Given the description of an element on the screen output the (x, y) to click on. 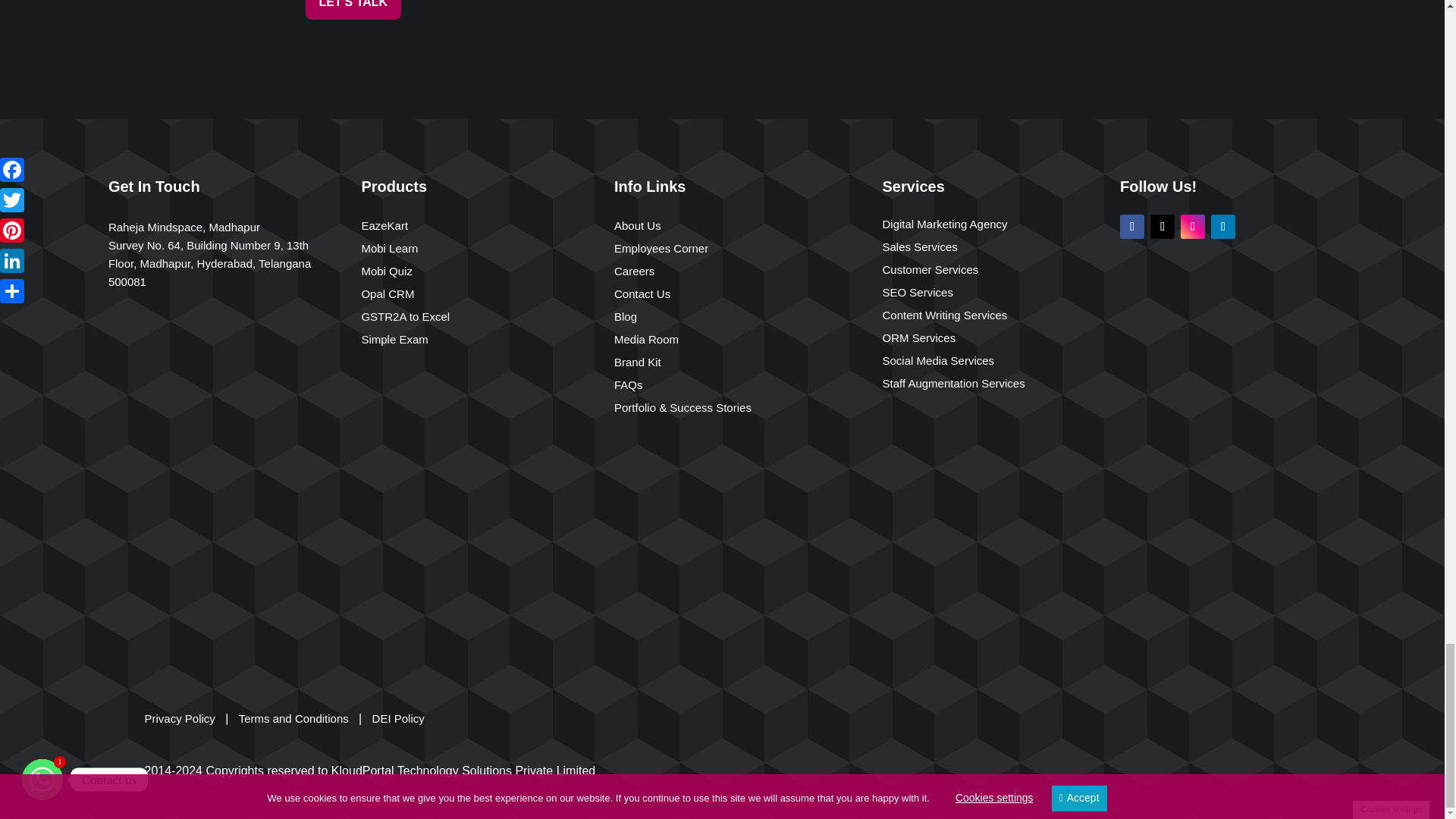
FAC-Signature (970, 32)
Woman-Owned-Business-Badge (1165, 491)
NASSCOM-Certified-Member (1200, 286)
Follow on Instagram (1192, 226)
CMMI Level 3 Trans BG (1200, 377)
Follow on Facebook (1131, 226)
Prashanthi Kolluru - Founder - KloudPortal (970, 2)
Follow on LinkedIn (1222, 226)
MSME-BW (1170, 600)
Follow on X (1162, 226)
